Given the description of an element on the screen output the (x, y) to click on. 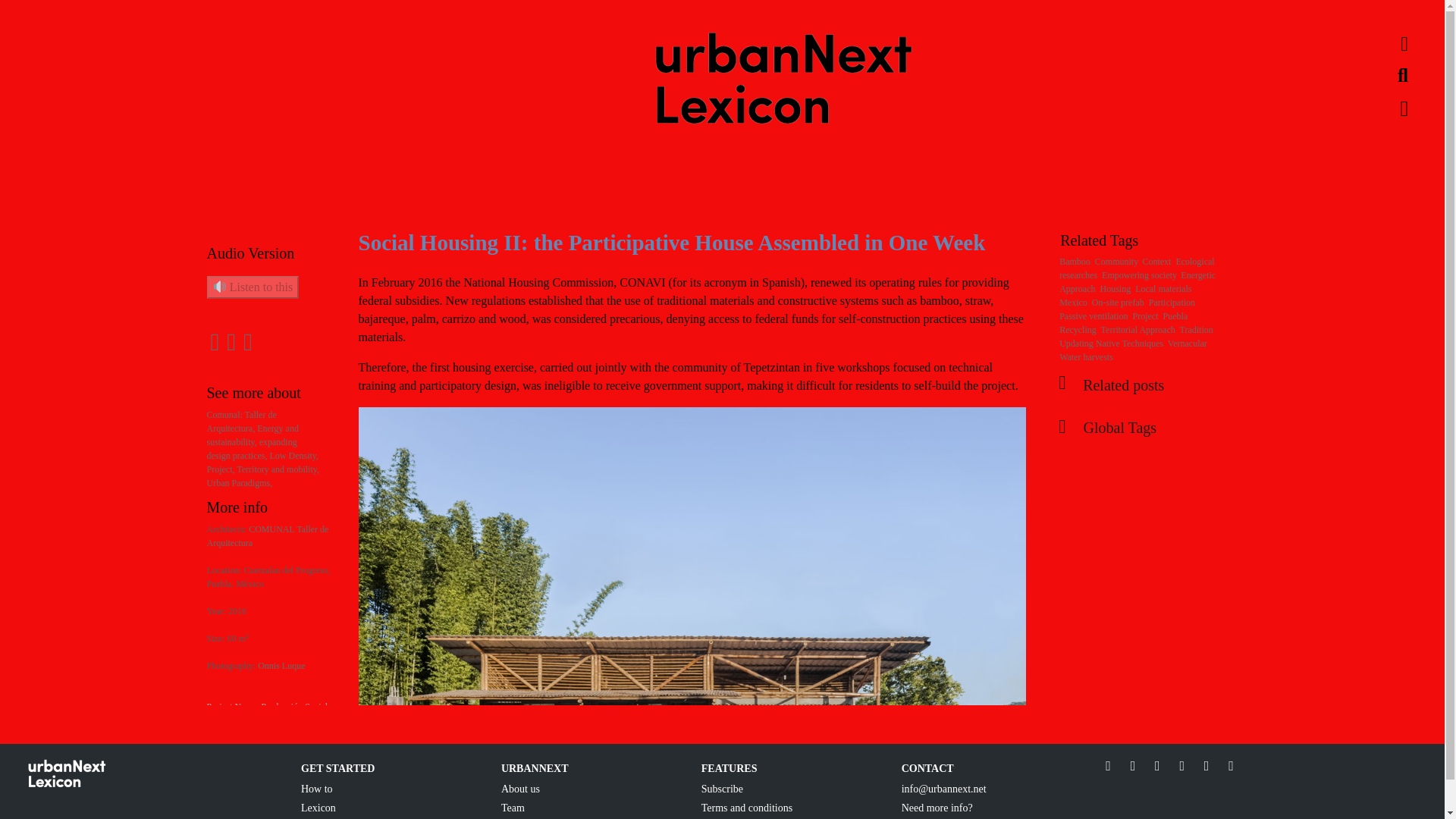
Onnis Luque (280, 665)
Urban Paradigms (239, 482)
expanding design practices (251, 448)
Energy and sustainability (252, 435)
Listen to this (252, 287)
Territory and mobility (276, 469)
Community (1116, 261)
Comunal: Taller de Arquitectura (241, 421)
Bamboo (1074, 261)
COMUNAL Taller de Arquitectura (267, 535)
Project (220, 469)
Low Density (293, 455)
Context (1155, 261)
